Given the description of an element on the screen output the (x, y) to click on. 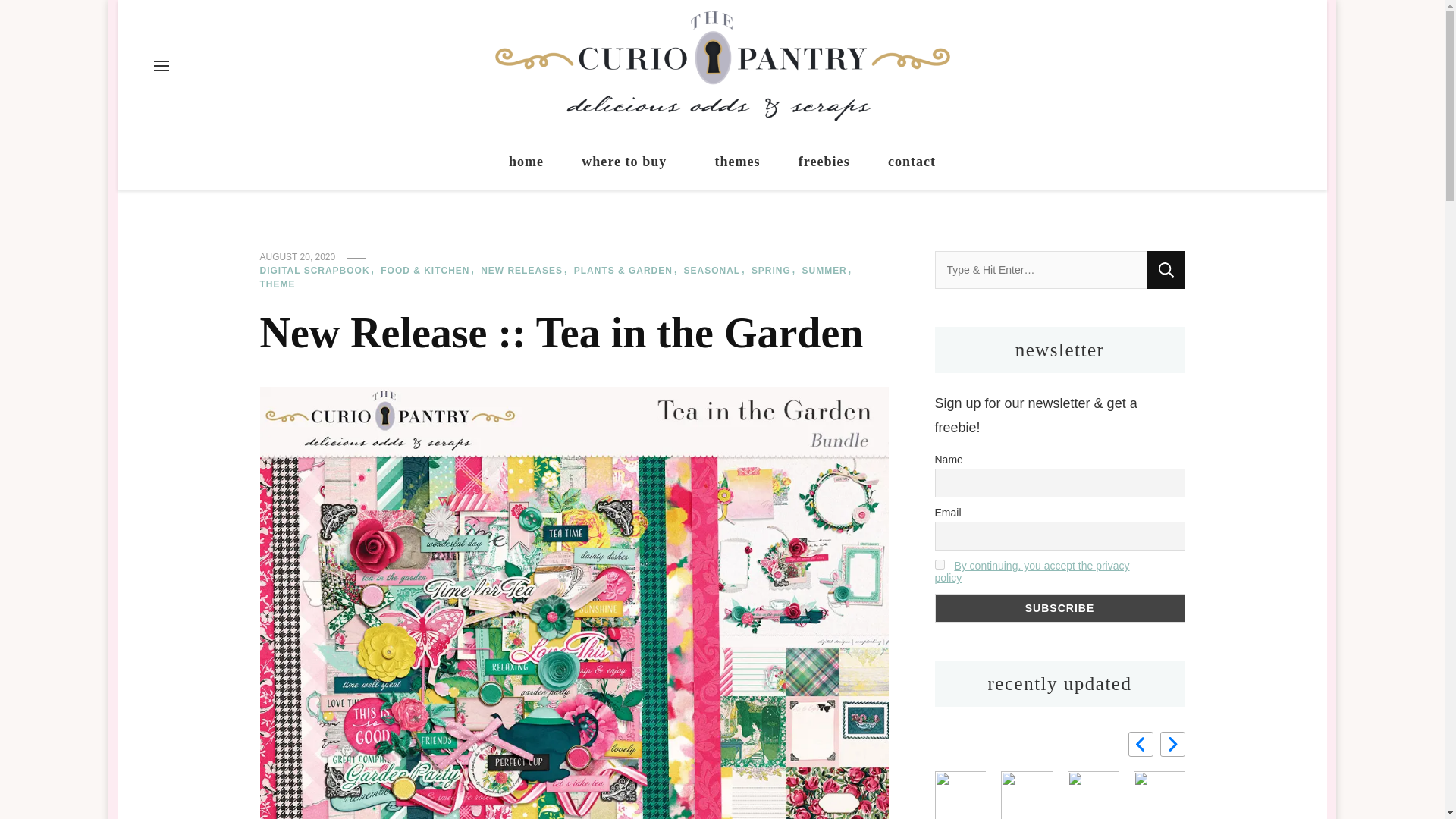
DIGITAL SCRAPBOOK (318, 271)
Subscribe (1059, 607)
contact (911, 161)
SPRING (775, 271)
SUMMER (829, 271)
Search (1166, 269)
AUGUST 20, 2020 (296, 257)
freebies (823, 161)
themes (736, 161)
where to buy (628, 161)
